Given the description of an element on the screen output the (x, y) to click on. 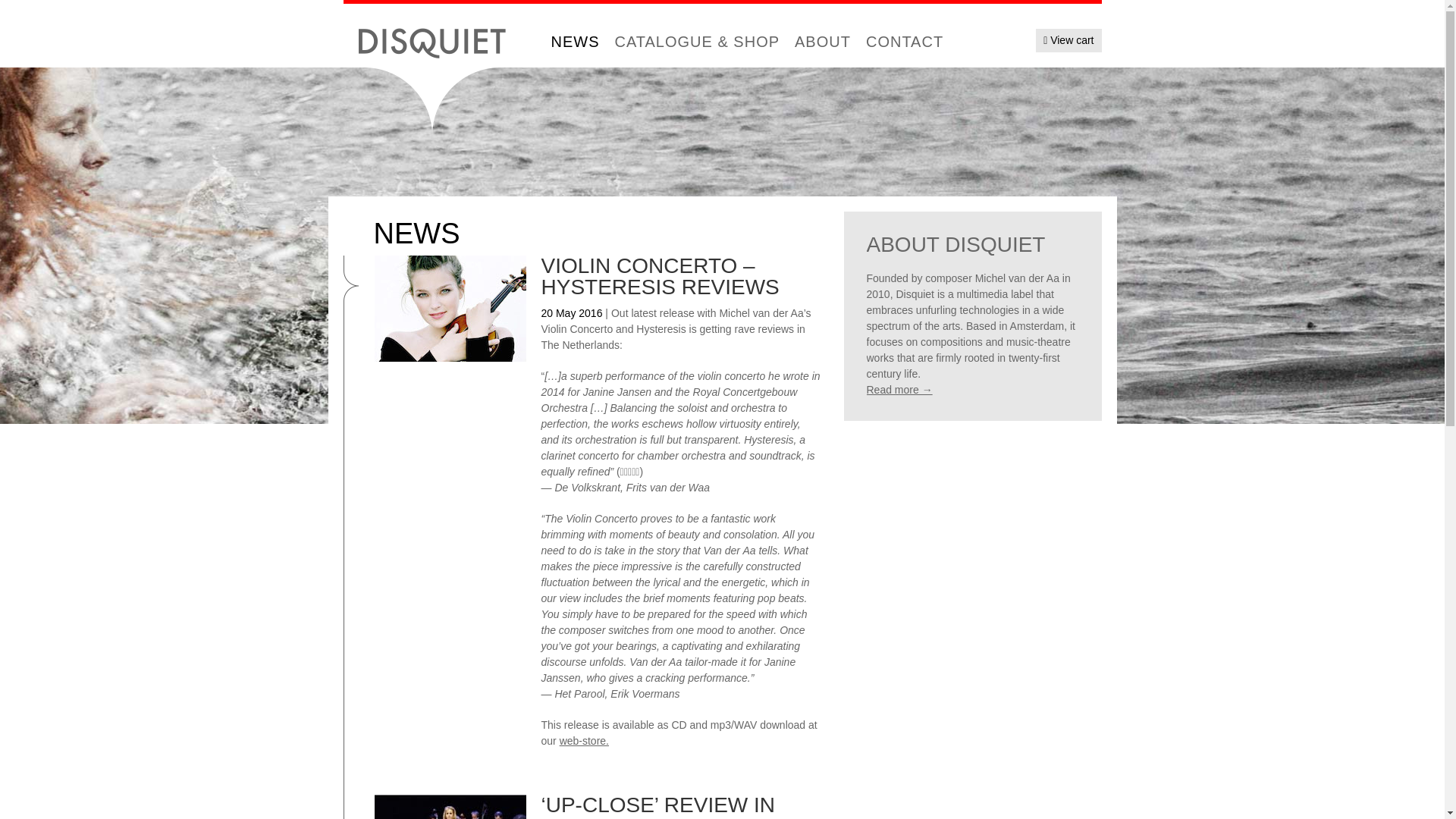
ABOUT (823, 41)
web-store. (583, 740)
Disquiet (431, 41)
CONTACT (904, 41)
NEWS (575, 41)
View cart (1067, 40)
